Given the description of an element on the screen output the (x, y) to click on. 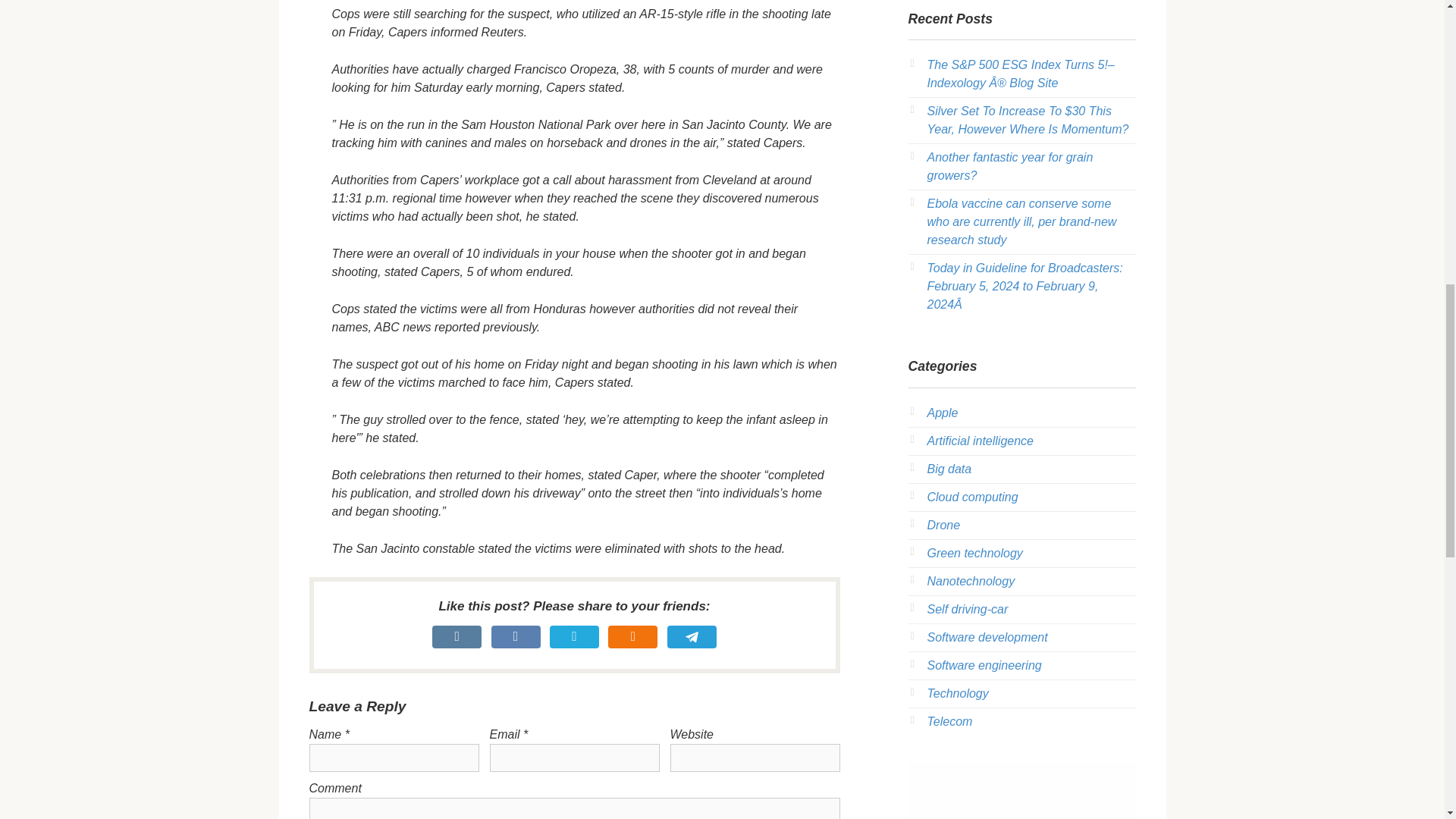
Apple (942, 412)
Green technology (974, 553)
Software development (986, 636)
Nanotechnology (970, 581)
Technology (957, 693)
Cloud computing (971, 496)
Artificial intelligence (979, 440)
Telecom (949, 721)
Drone (942, 524)
Self driving-car (966, 608)
